Given the description of an element on the screen output the (x, y) to click on. 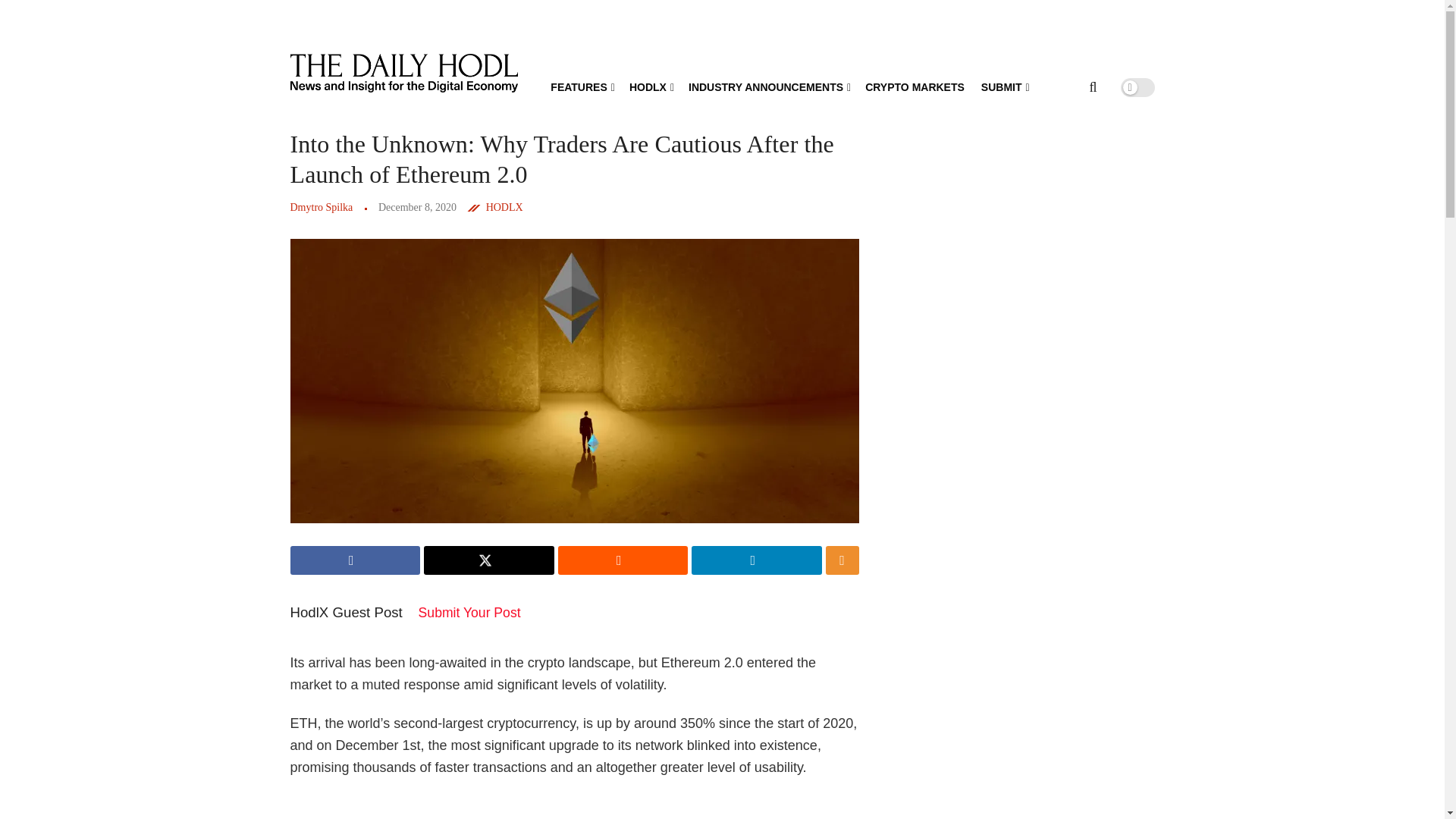
FEATURES (581, 86)
CRYPTO MARKETS (913, 86)
SUBMIT (1004, 86)
Advertisement (581, 807)
HODLX (649, 86)
INDUSTRY ANNOUNCEMENTS (768, 86)
